Given the description of an element on the screen output the (x, y) to click on. 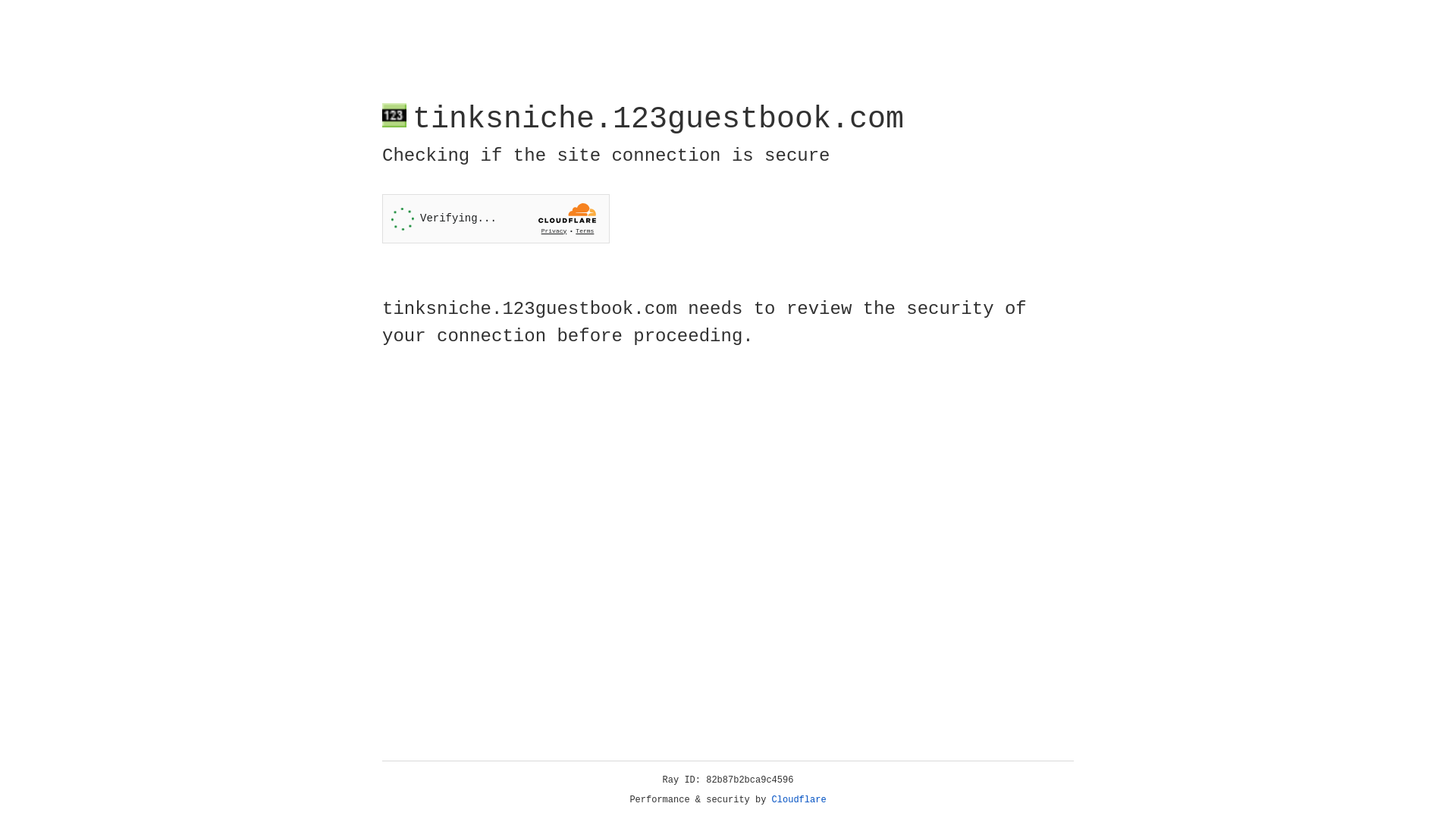
Widget containing a Cloudflare security challenge Element type: hover (495, 218)
Cloudflare Element type: text (798, 799)
